Given the description of an element on the screen output the (x, y) to click on. 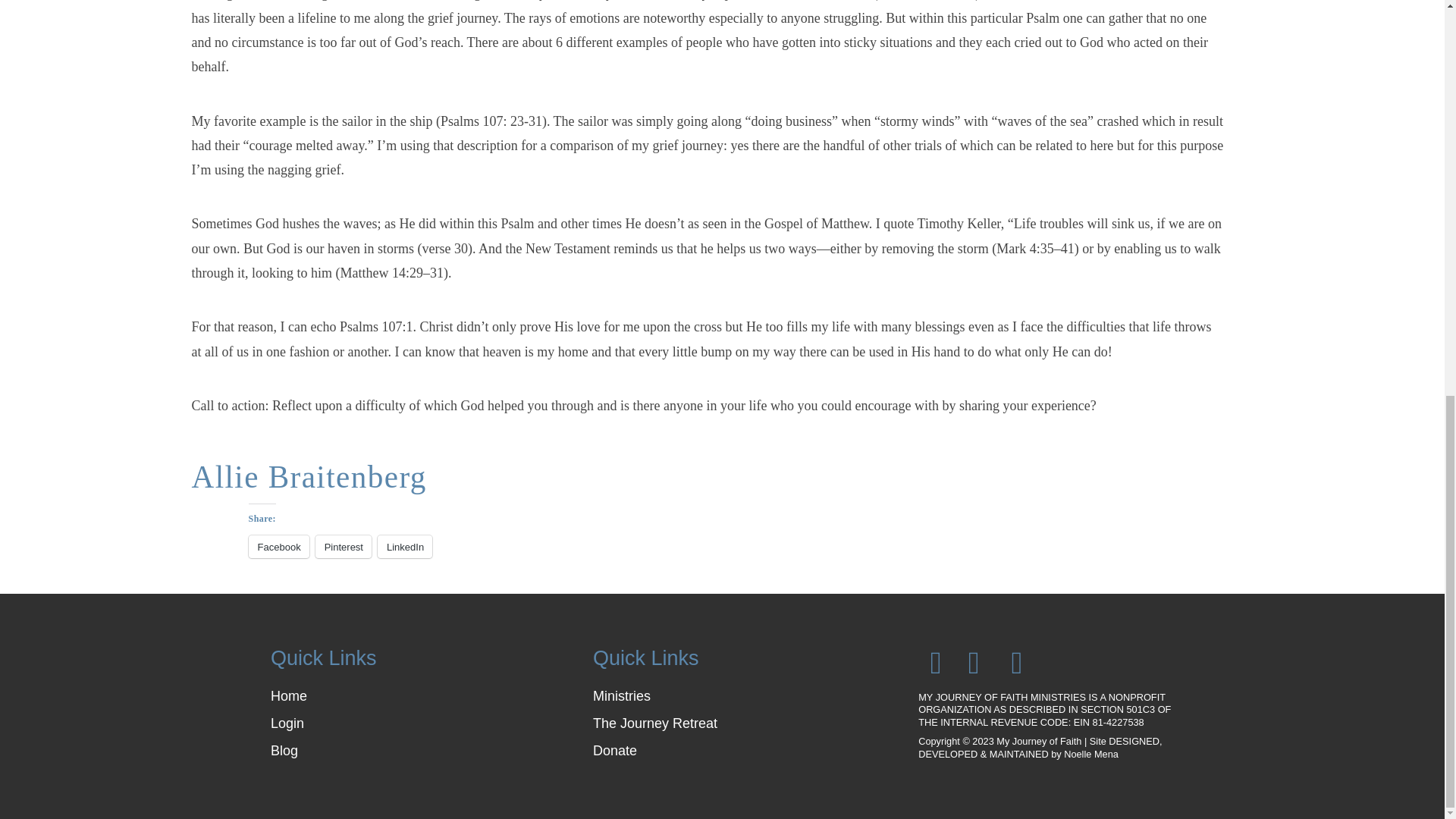
Click to share on Pinterest (343, 546)
Facebook (278, 546)
Click to share on LinkedIn (404, 546)
LinkedIn (404, 546)
Click to share on Facebook (278, 546)
Pinterest (343, 546)
